Given the description of an element on the screen output the (x, y) to click on. 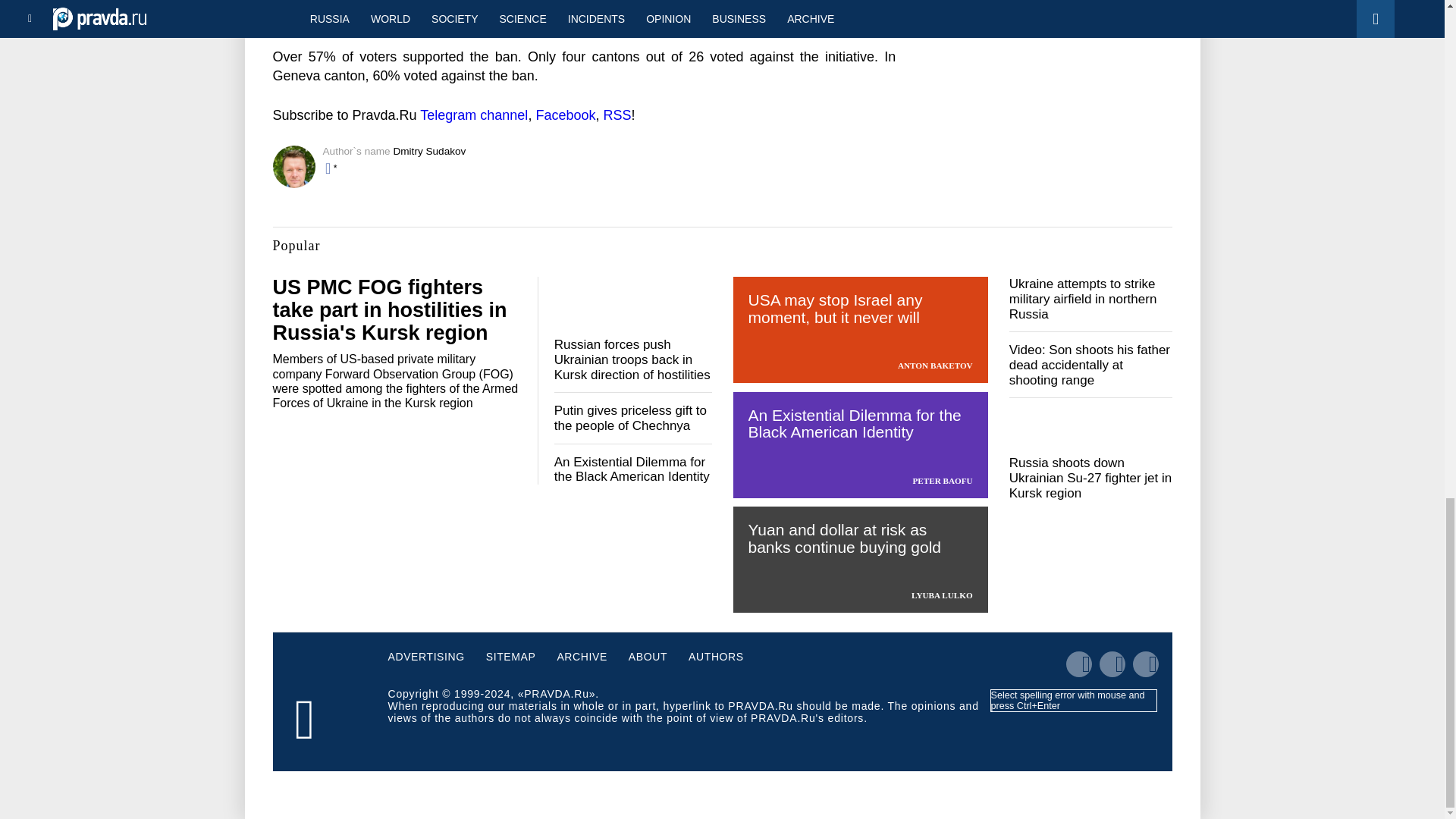
Facebook (565, 114)
Telegram channel (473, 114)
RSS (616, 114)
Dmitry Sudakov (429, 151)
